Given the description of an element on the screen output the (x, y) to click on. 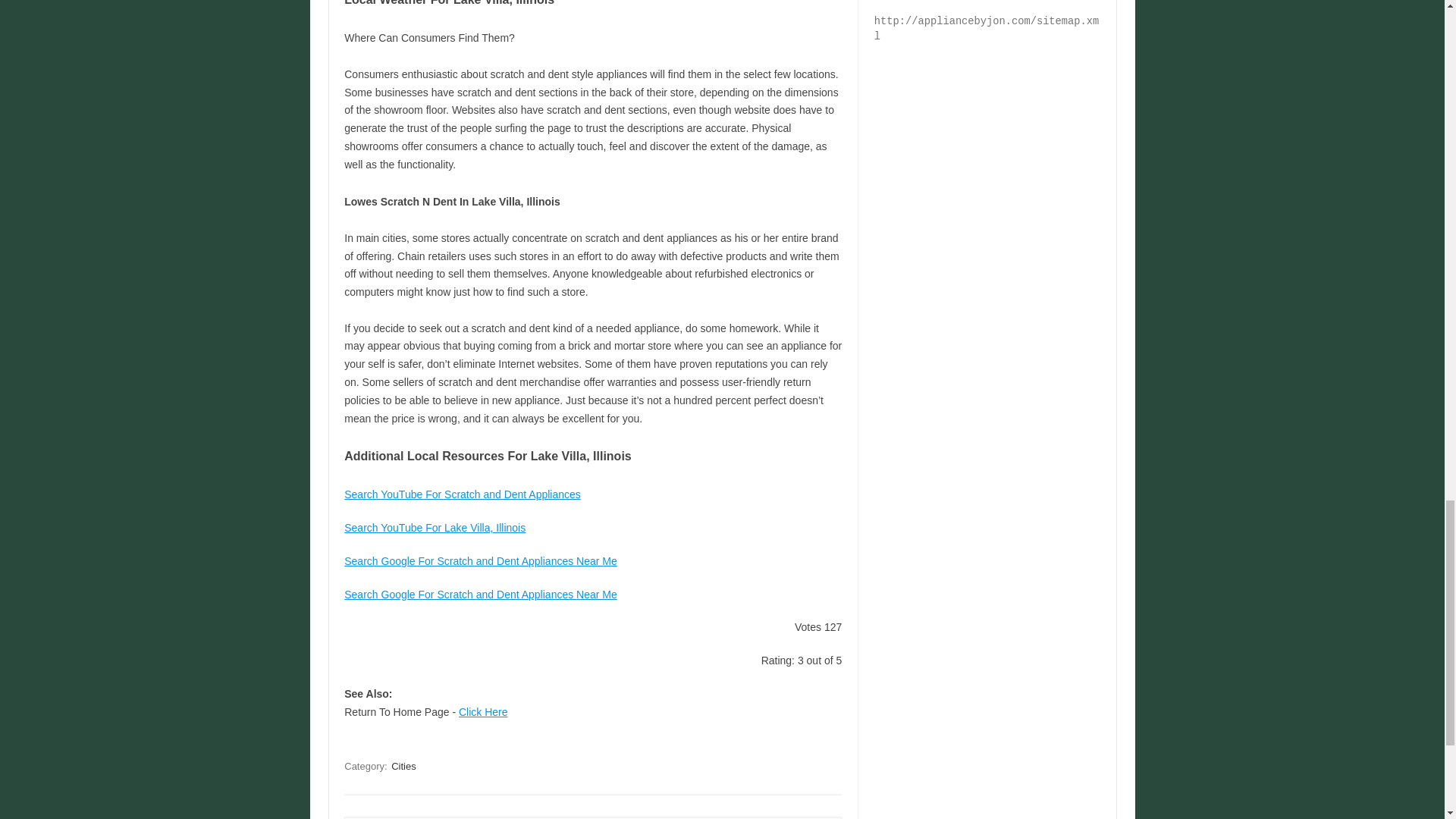
Cities (403, 766)
Search Google For Scratch and Dent Appliances Near Me (480, 594)
Search YouTube For Lake Villa, Illinois (434, 527)
Search YouTube For Scratch and Dent Appliances (461, 494)
Search Google For Scratch and Dent Appliances Near Me (480, 561)
Click Here (483, 711)
